Given the description of an element on the screen output the (x, y) to click on. 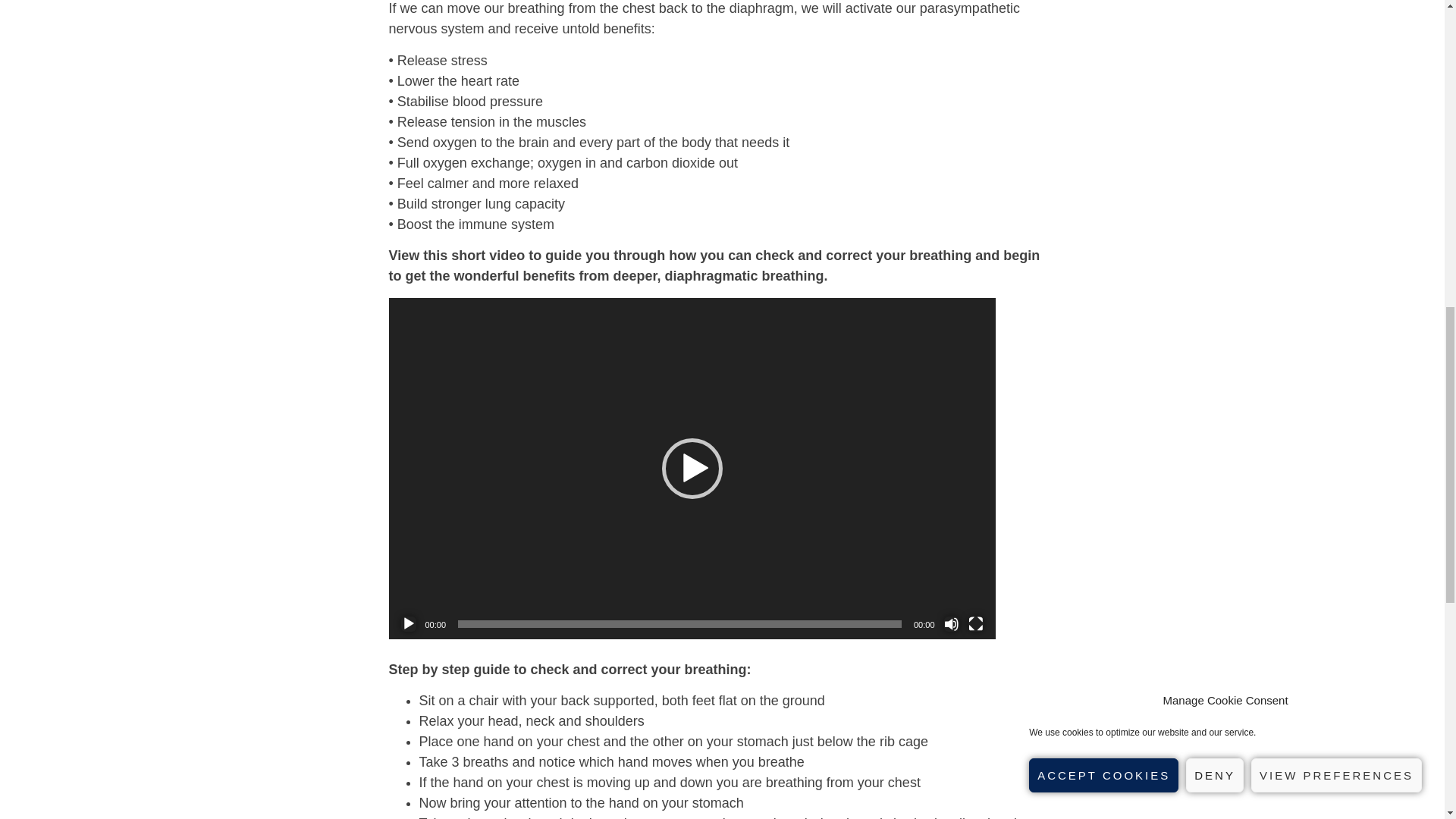
Mute (950, 622)
Play (407, 622)
Fullscreen (975, 622)
